Given the description of an element on the screen output the (x, y) to click on. 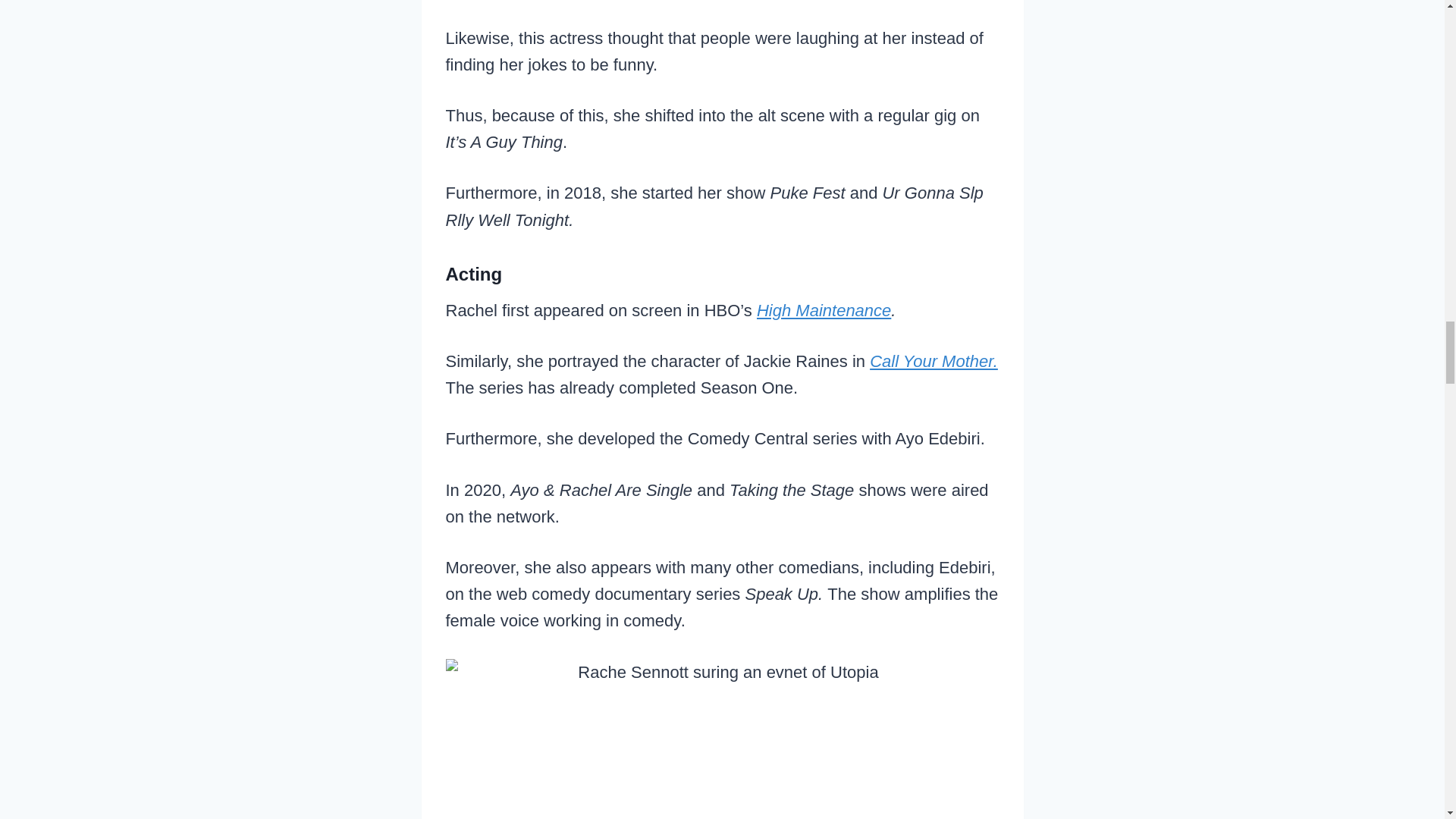
High Maintenance (824, 310)
Call Your Mother. (933, 361)
